Given the description of an element on the screen output the (x, y) to click on. 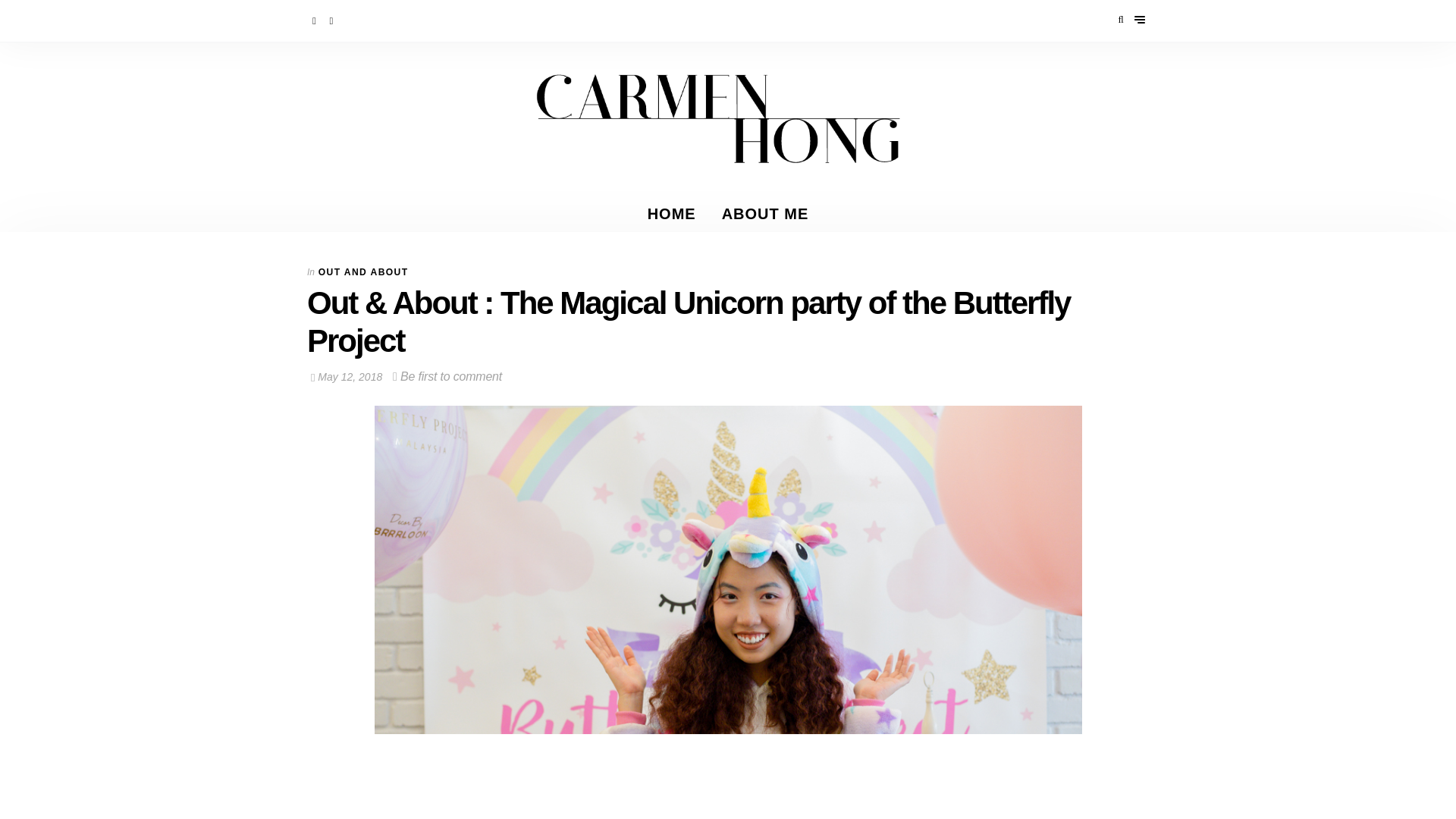
Instagram (331, 20)
HOME (671, 213)
OUT AND ABOUT (363, 271)
Facebook (315, 20)
Be first to comment (447, 376)
ABOUT ME (765, 213)
